Given the description of an element on the screen output the (x, y) to click on. 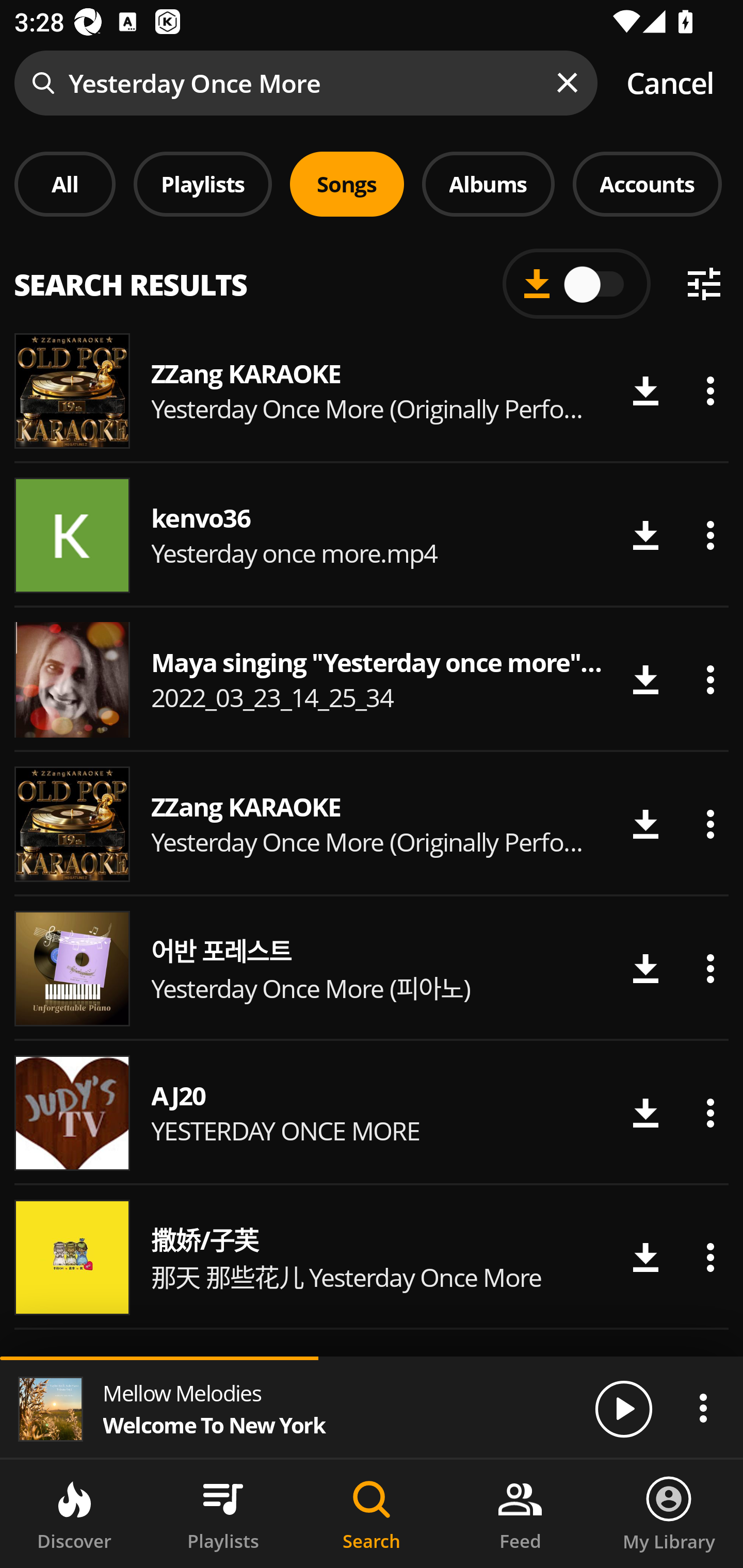
Yesterday Once More Cancel (371, 82)
Cancel (670, 82)
All (64, 184)
Playlists (202, 184)
Songs (346, 184)
Albums (488, 184)
Accounts (647, 184)
All Country Afrosounds Pop Caribbean (371, 275)
Pop (529, 288)
Download (644, 391)
Actions (710, 391)
Download (644, 535)
Actions (710, 535)
Download (644, 679)
Actions (710, 679)
Download (644, 823)
Actions (710, 823)
Download (644, 968)
Actions (710, 968)
Download (644, 1113)
Actions (710, 1113)
Download (644, 1257)
Actions (710, 1257)
Actions (703, 1407)
Play/Pause (623, 1408)
Discover (74, 1513)
Playlists (222, 1513)
Search (371, 1513)
Feed (519, 1513)
My Library (668, 1513)
